Given the description of an element on the screen output the (x, y) to click on. 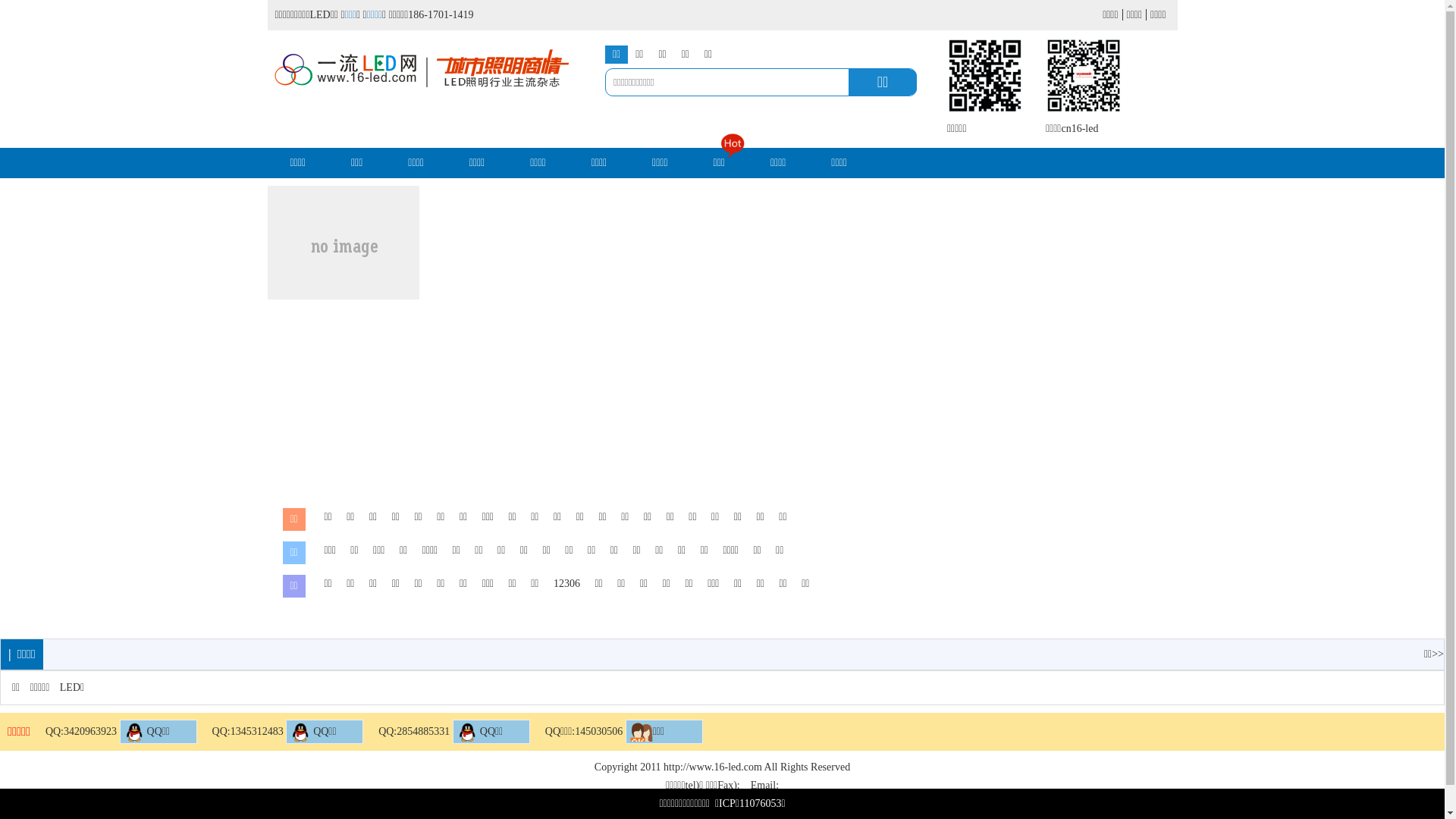
12306 Element type: text (566, 583)
